Given the description of an element on the screen output the (x, y) to click on. 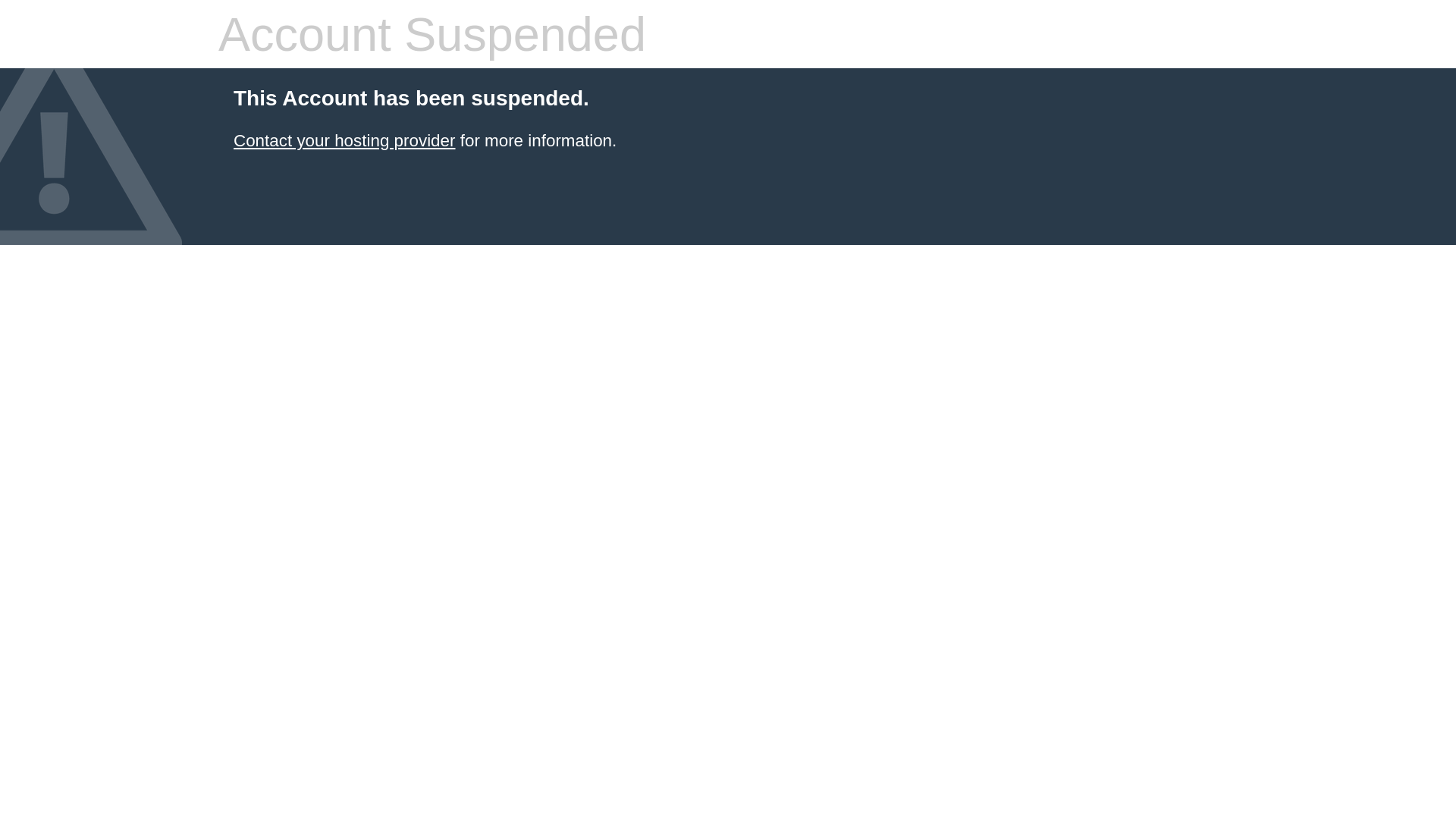
Contact your hosting provider Element type: text (344, 140)
